Given the description of an element on the screen output the (x, y) to click on. 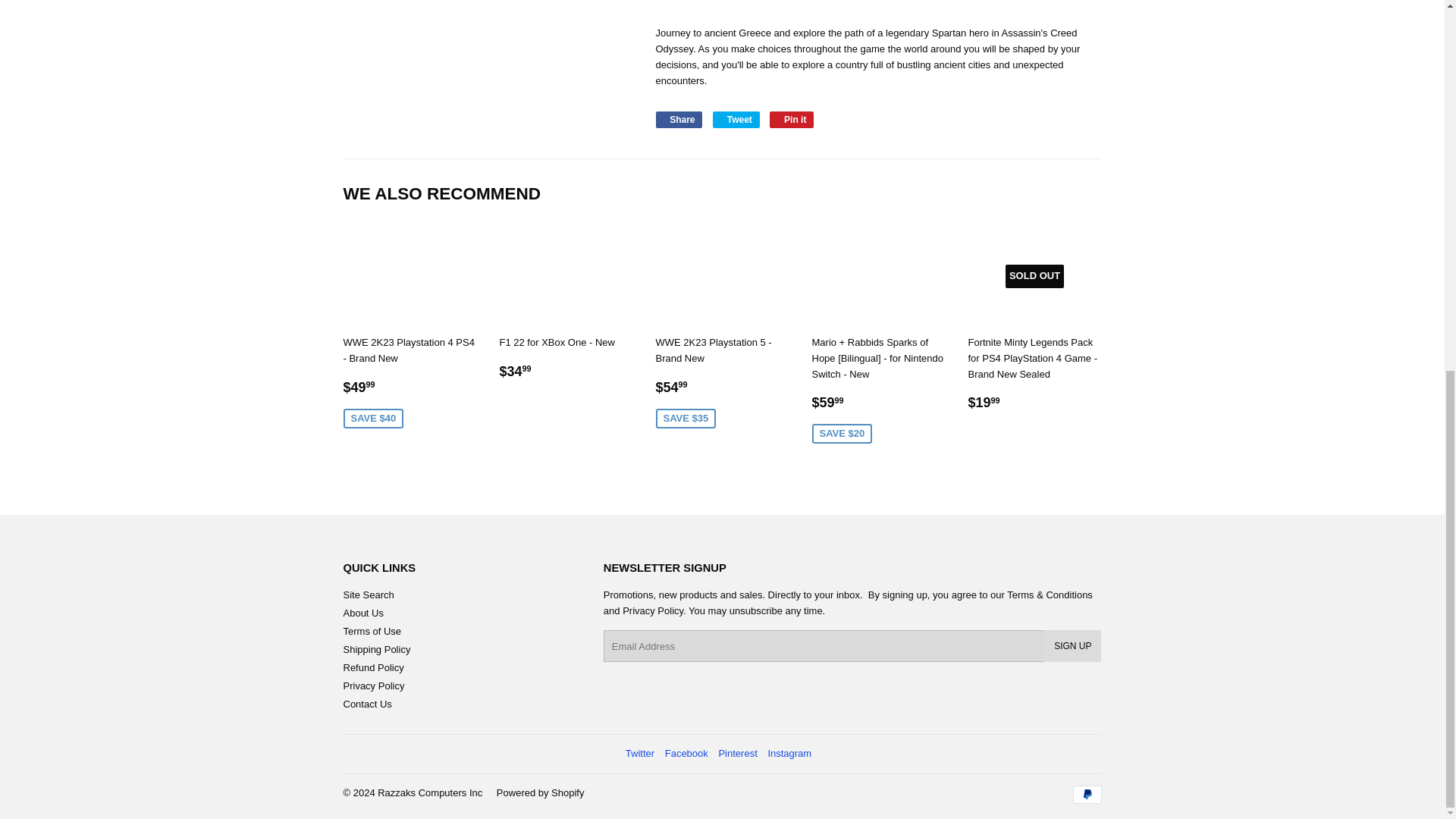
PayPal (1085, 794)
Razzaks Computers Inc on Pinterest (737, 753)
Razzaks Computers Inc on Instagram (788, 753)
Pin on Pinterest (791, 119)
Share on Facebook (678, 119)
Tweet on Twitter (736, 119)
Razzaks Computers Inc on Facebook (686, 753)
Razzaks Computers Inc on Twitter (639, 753)
